Given the description of an element on the screen output the (x, y) to click on. 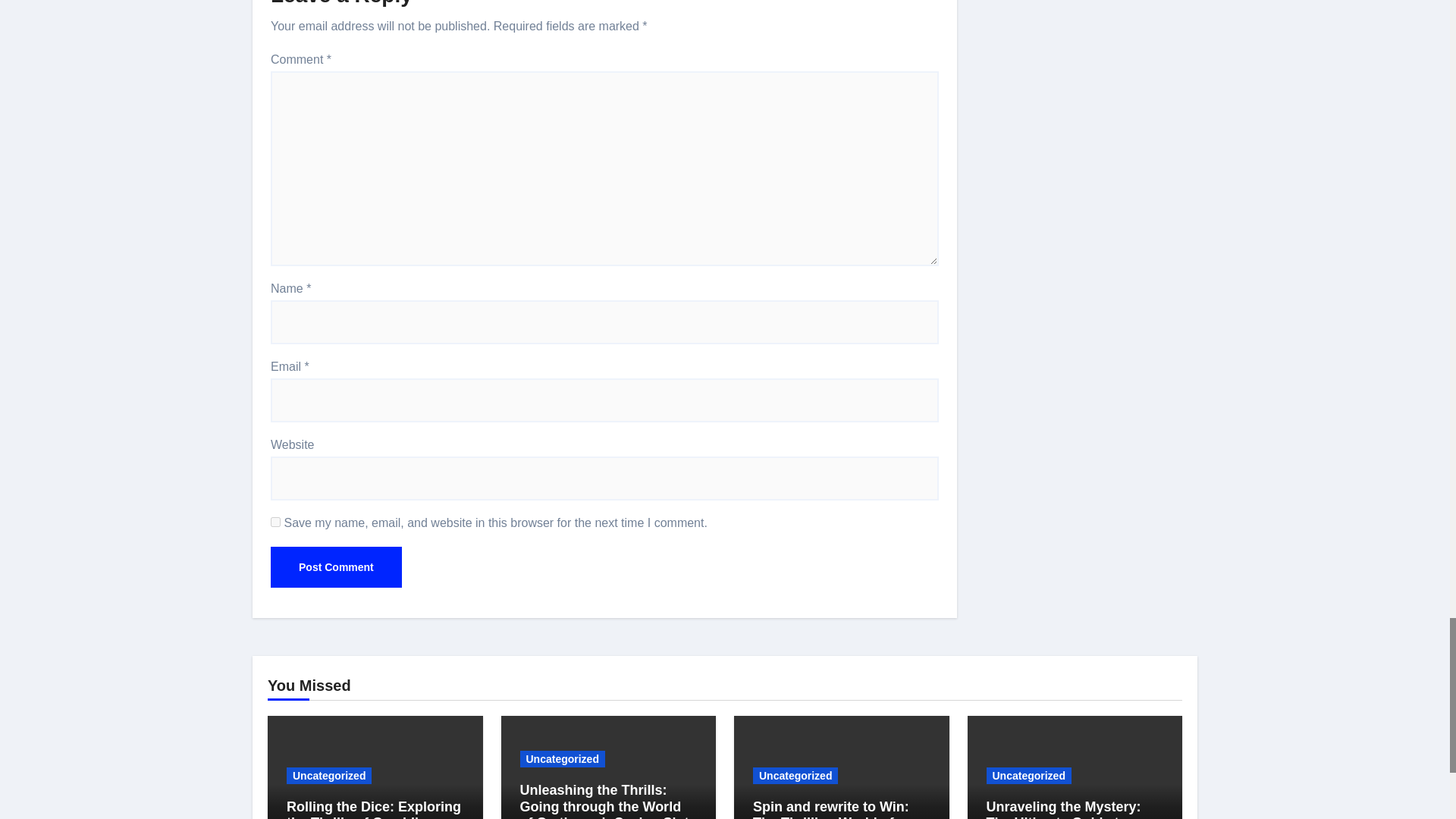
Post Comment (335, 567)
yes (275, 521)
